Given the description of an element on the screen output the (x, y) to click on. 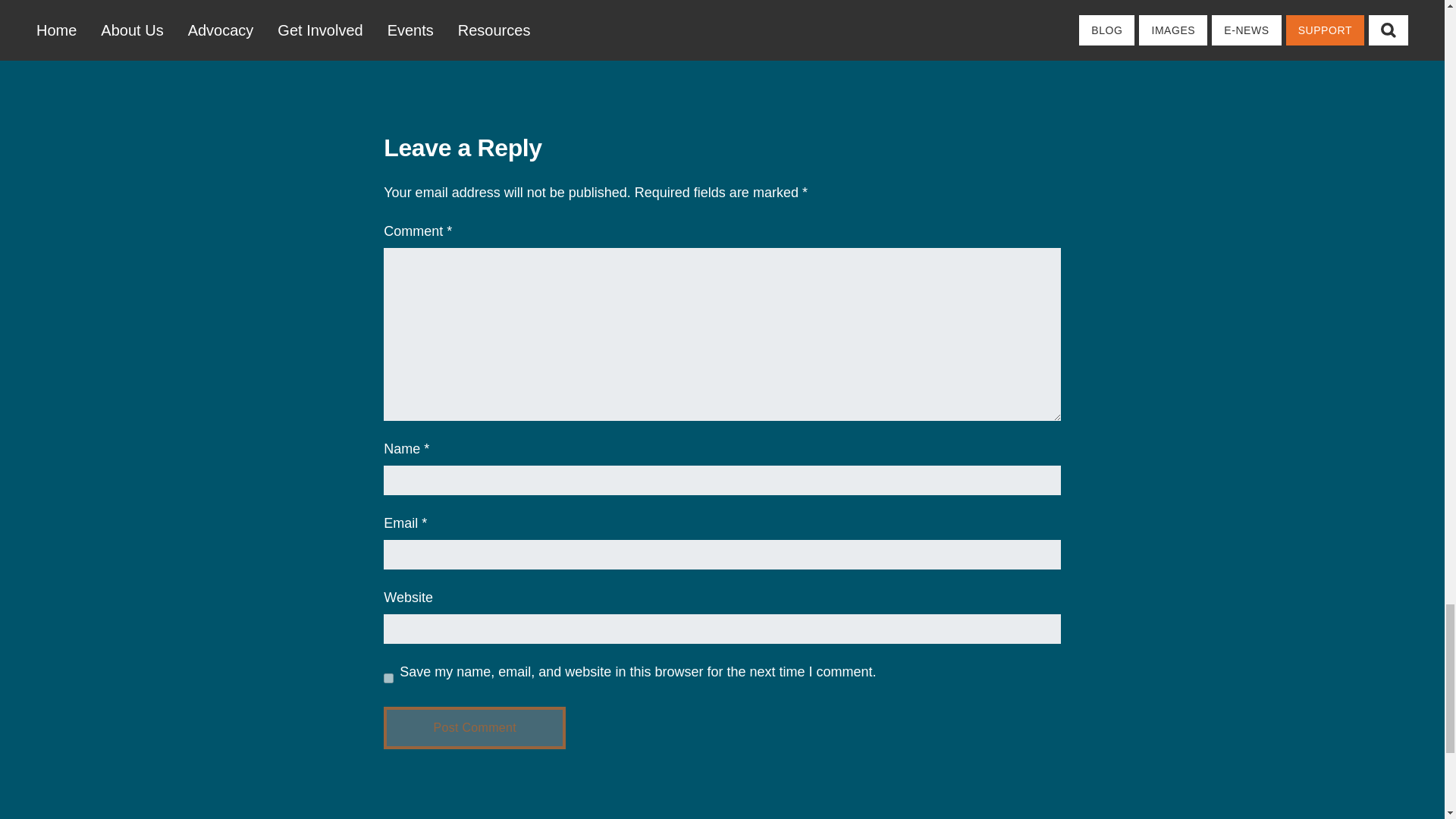
Post Comment (475, 727)
